Given the description of an element on the screen output the (x, y) to click on. 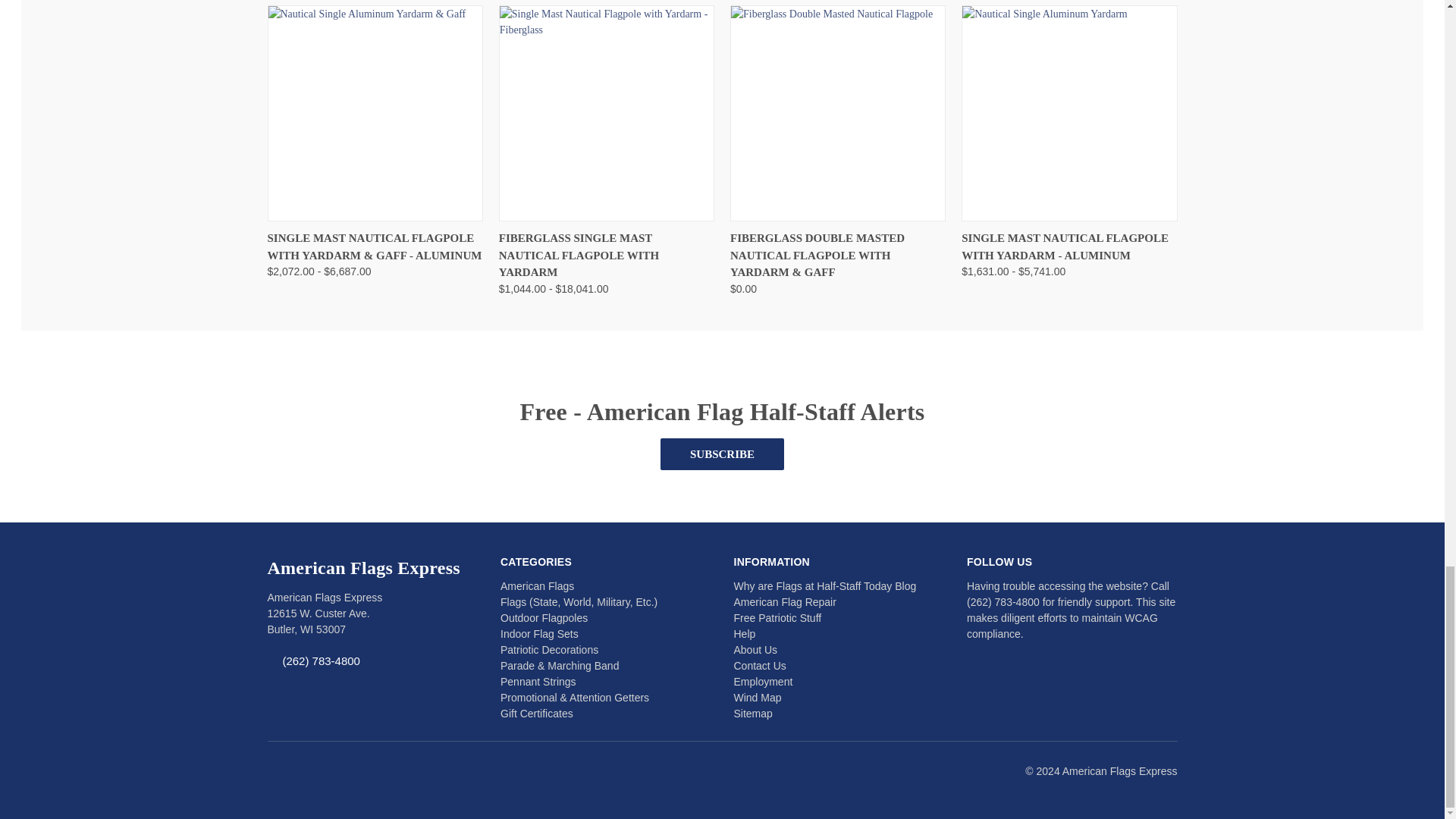
Single Mast Nautical Flagpole with Yardarm - Fiberglass (606, 112)
Nautical Single Aluminum Yardarm (1069, 112)
Fiberglass Double Masted  Nautical Flagpole (837, 112)
